Given the description of an element on the screen output the (x, y) to click on. 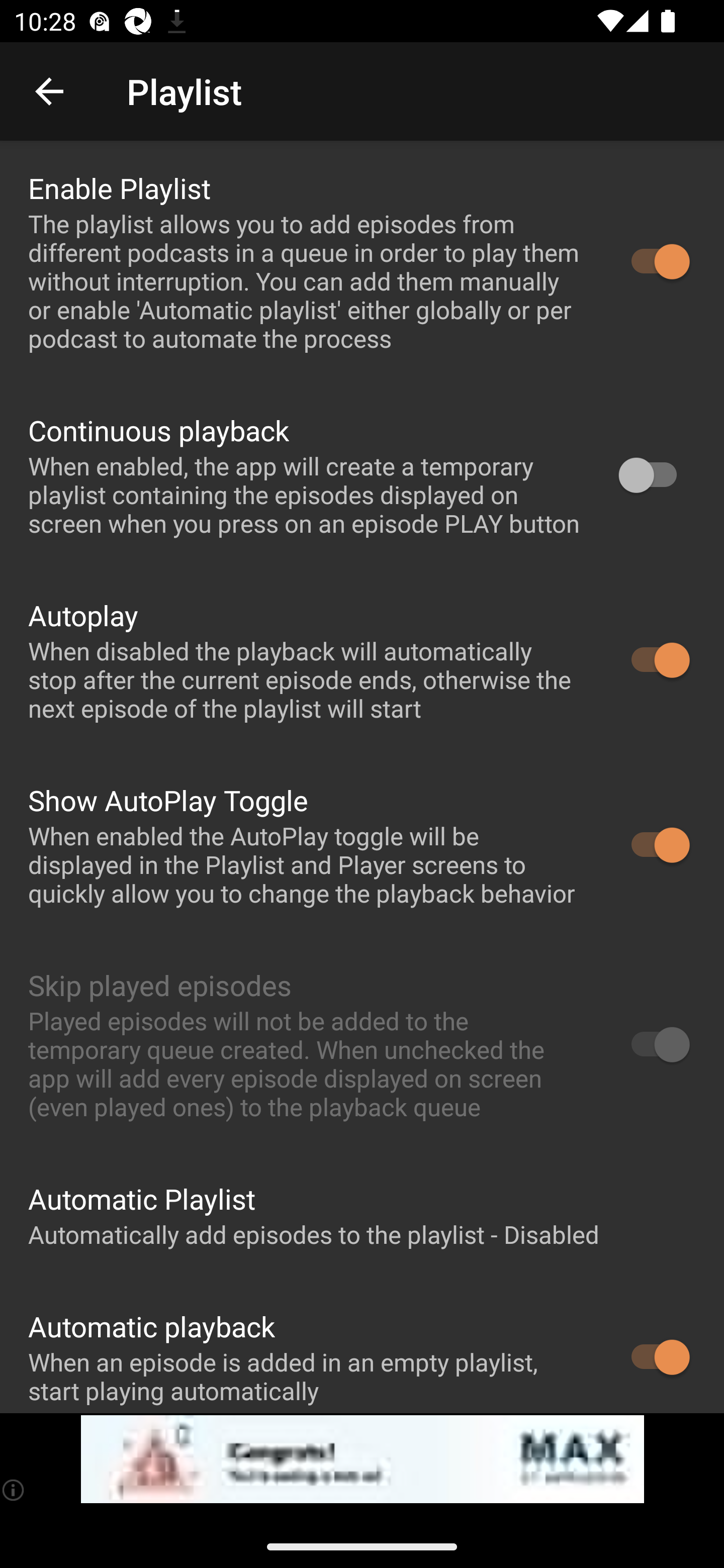
Navigate up (49, 91)
app-monetization (362, 1459)
(i) (14, 1489)
